Given the description of an element on the screen output the (x, y) to click on. 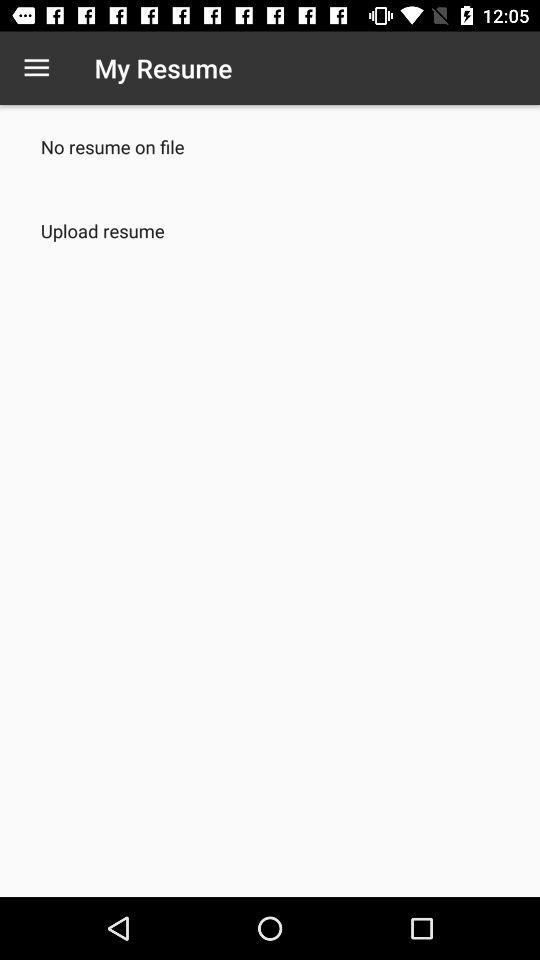
open icon above the no resume on icon (36, 68)
